Given the description of an element on the screen output the (x, y) to click on. 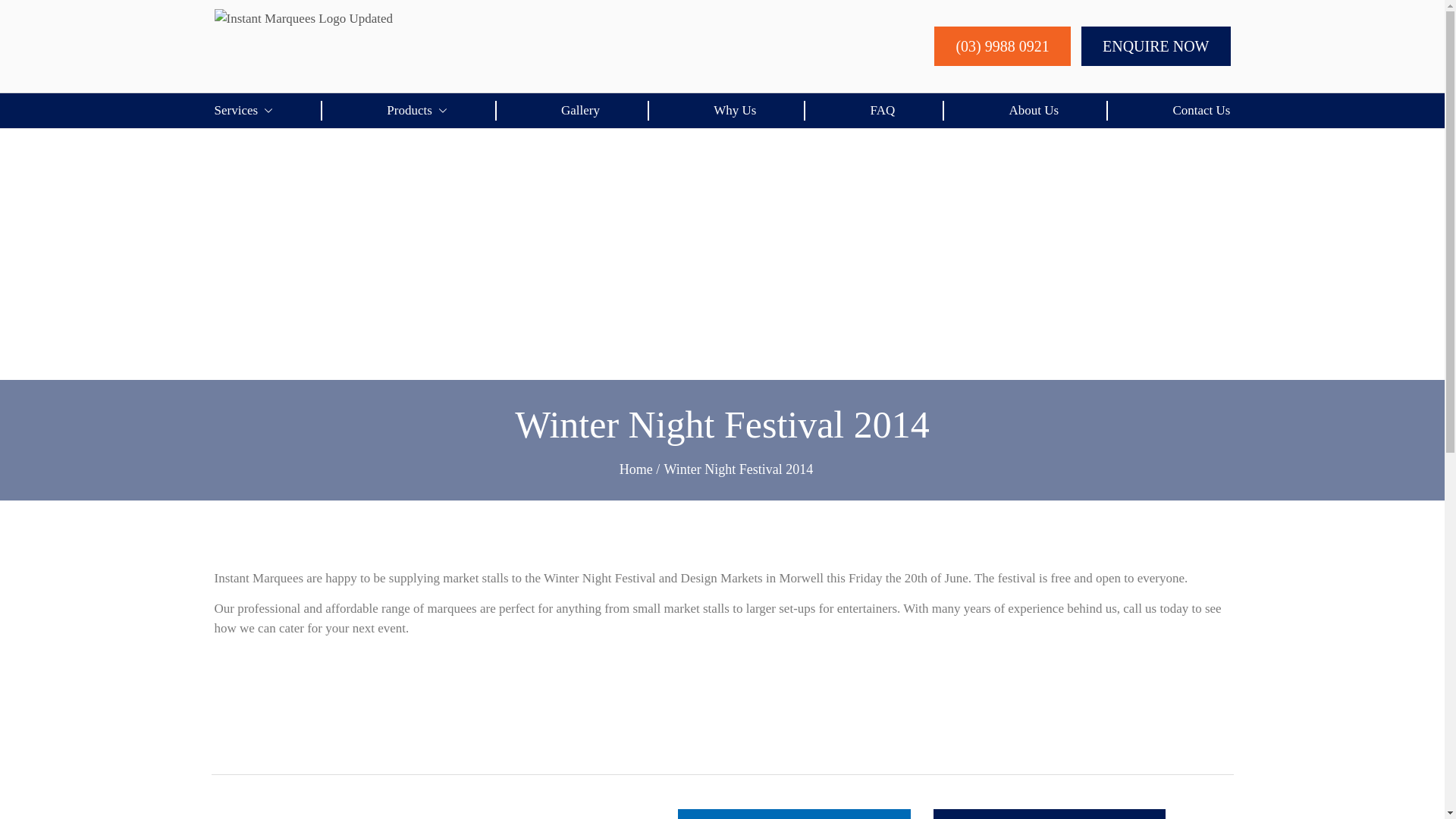
Gallery Element type: text (580, 110)
FAQ Element type: text (882, 110)
Products Element type: text (416, 110)
About Us Element type: text (1034, 110)
(03) 9988 0921 Element type: text (1002, 45)
Home Element type: text (635, 468)
Why Us Element type: text (734, 110)
Services Element type: text (243, 110)
Contact Us Element type: text (1201, 110)
marquees Element type: text (451, 608)
ENQUIRE NOW Element type: text (1155, 45)
